Given the description of an element on the screen output the (x, y) to click on. 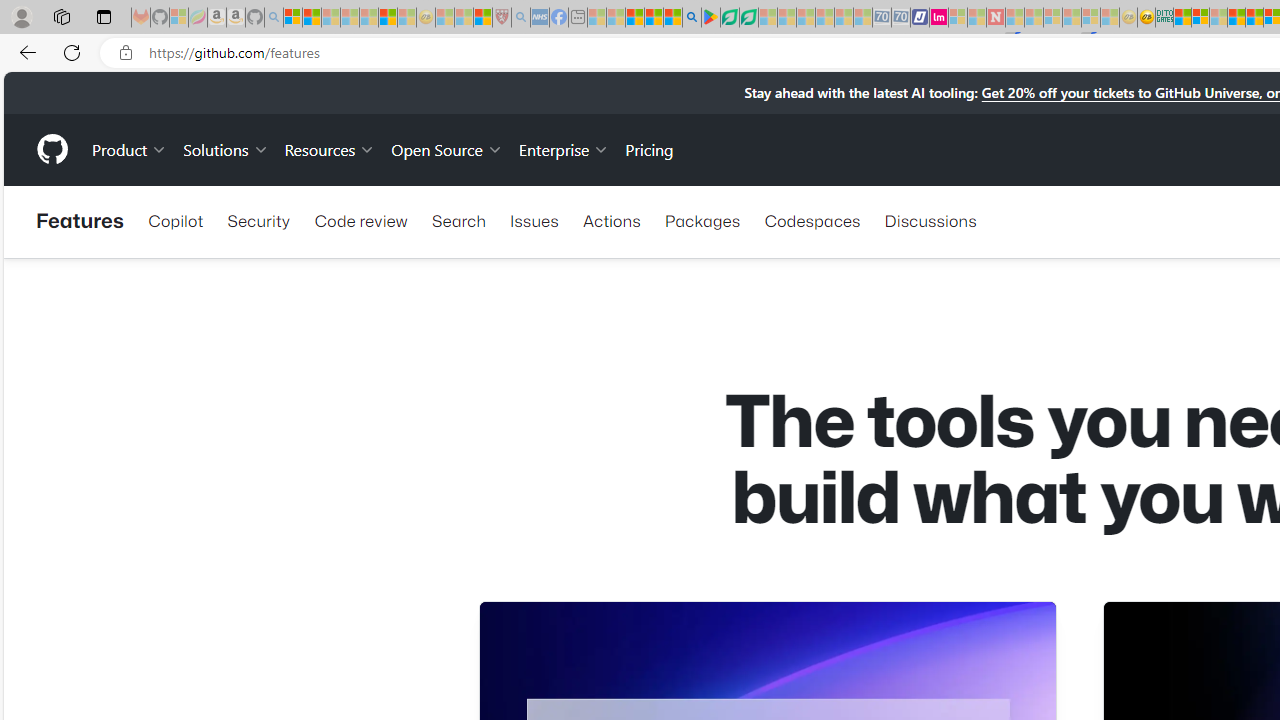
Features (80, 221)
Open Source (446, 148)
Local - MSN (482, 17)
Issues (534, 220)
Enterprise (563, 148)
Open Source (446, 148)
Bluey: Let's Play! - Apps on Google Play (710, 17)
